Given the description of an element on the screen output the (x, y) to click on. 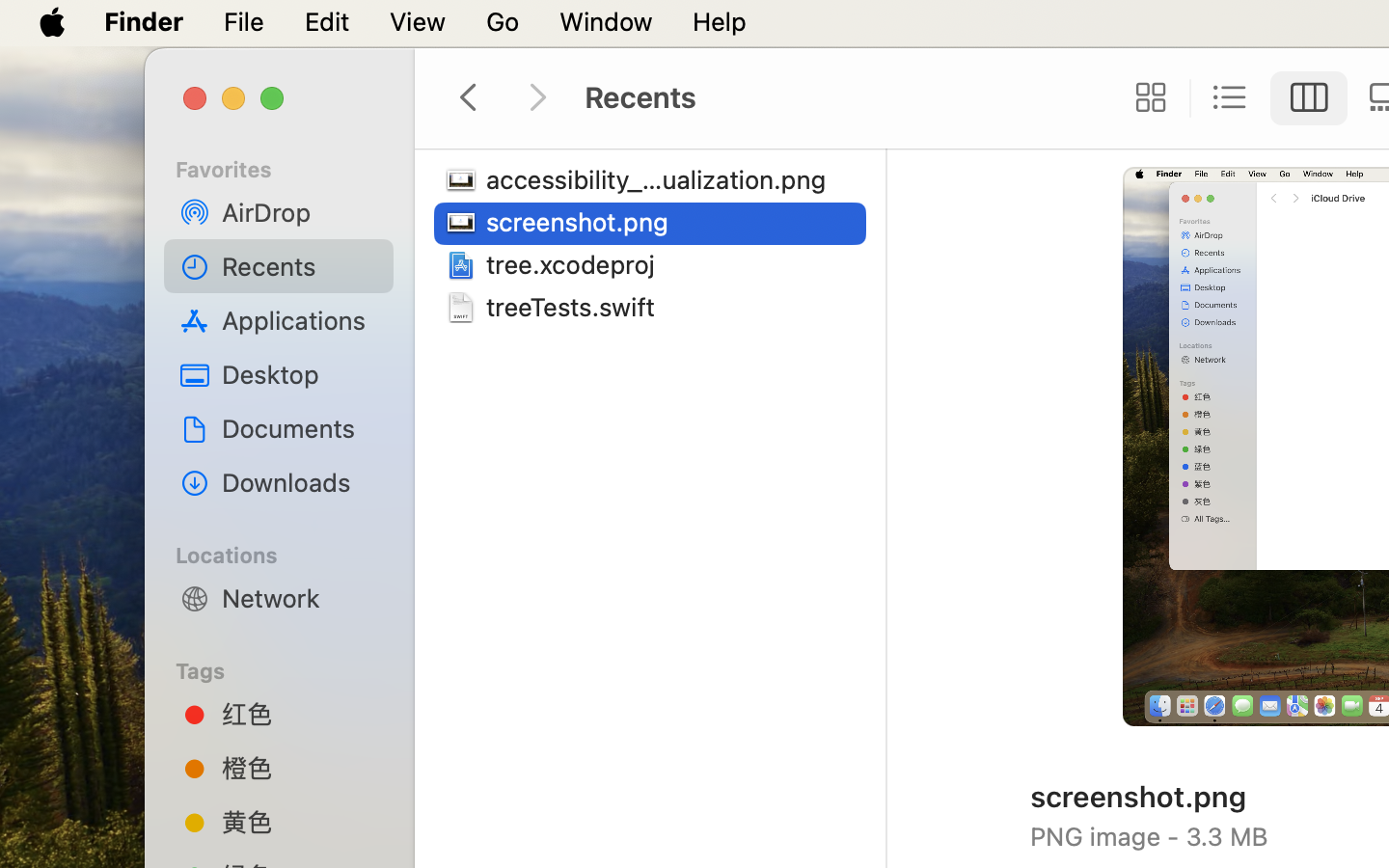
treeTests.swift Element type: AXTextField (574, 306)
Network Element type: AXStaticText (299, 597)
tree.xcodeproj Element type: AXTextField (574, 263)
accessibility_visualization.png Element type: AXTextField (661, 178)
Locations Element type: AXStaticText (289, 552)
